Given the description of an element on the screen output the (x, y) to click on. 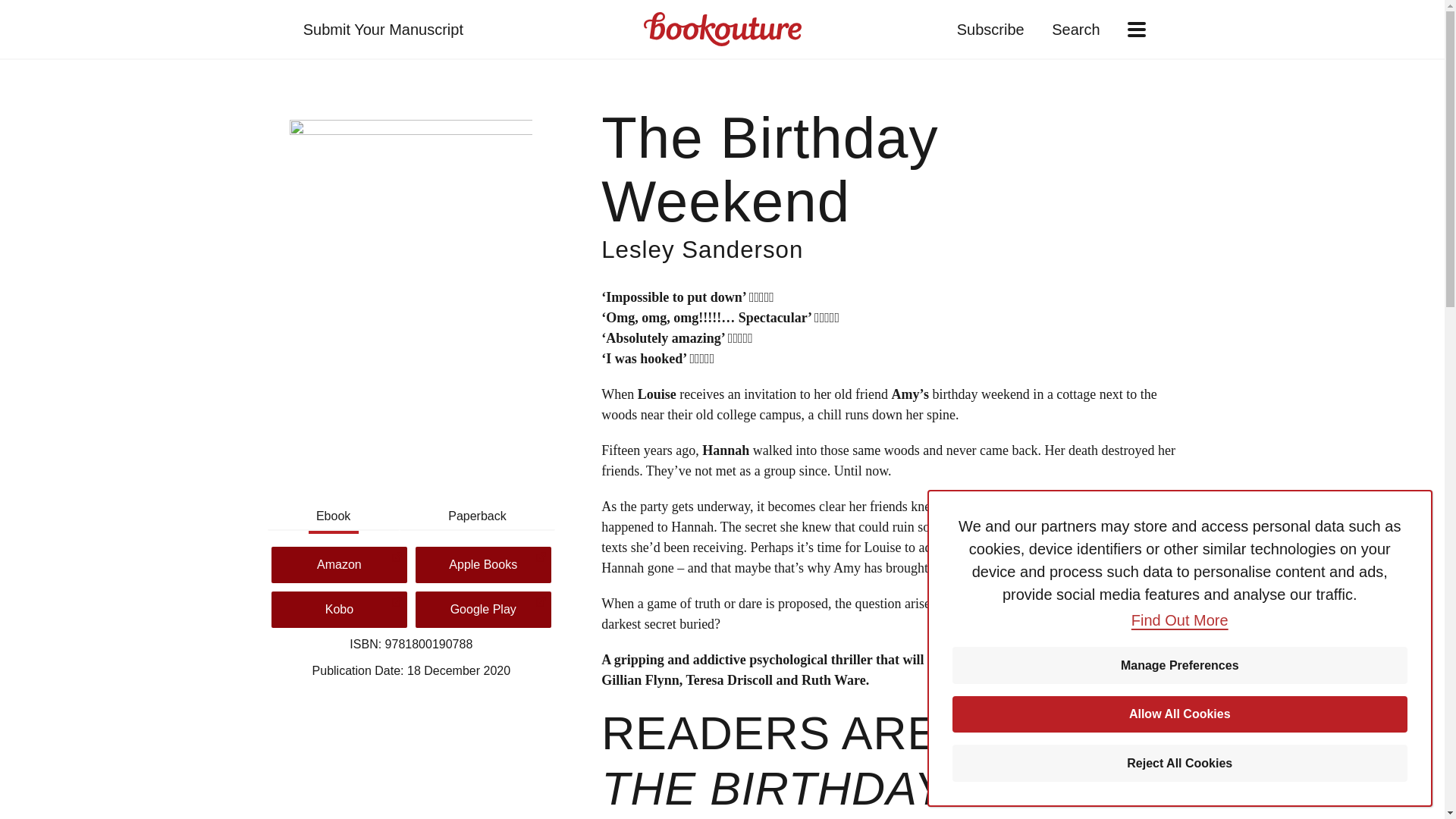
Lesley Sanderson (702, 249)
Kobo (338, 609)
Apple Books (482, 565)
Bookouture logo (721, 28)
Ebook (332, 515)
Google Play (482, 609)
Submit Your Manuscript (382, 29)
Paperback (476, 515)
Amazon (338, 565)
